Given the description of an element on the screen output the (x, y) to click on. 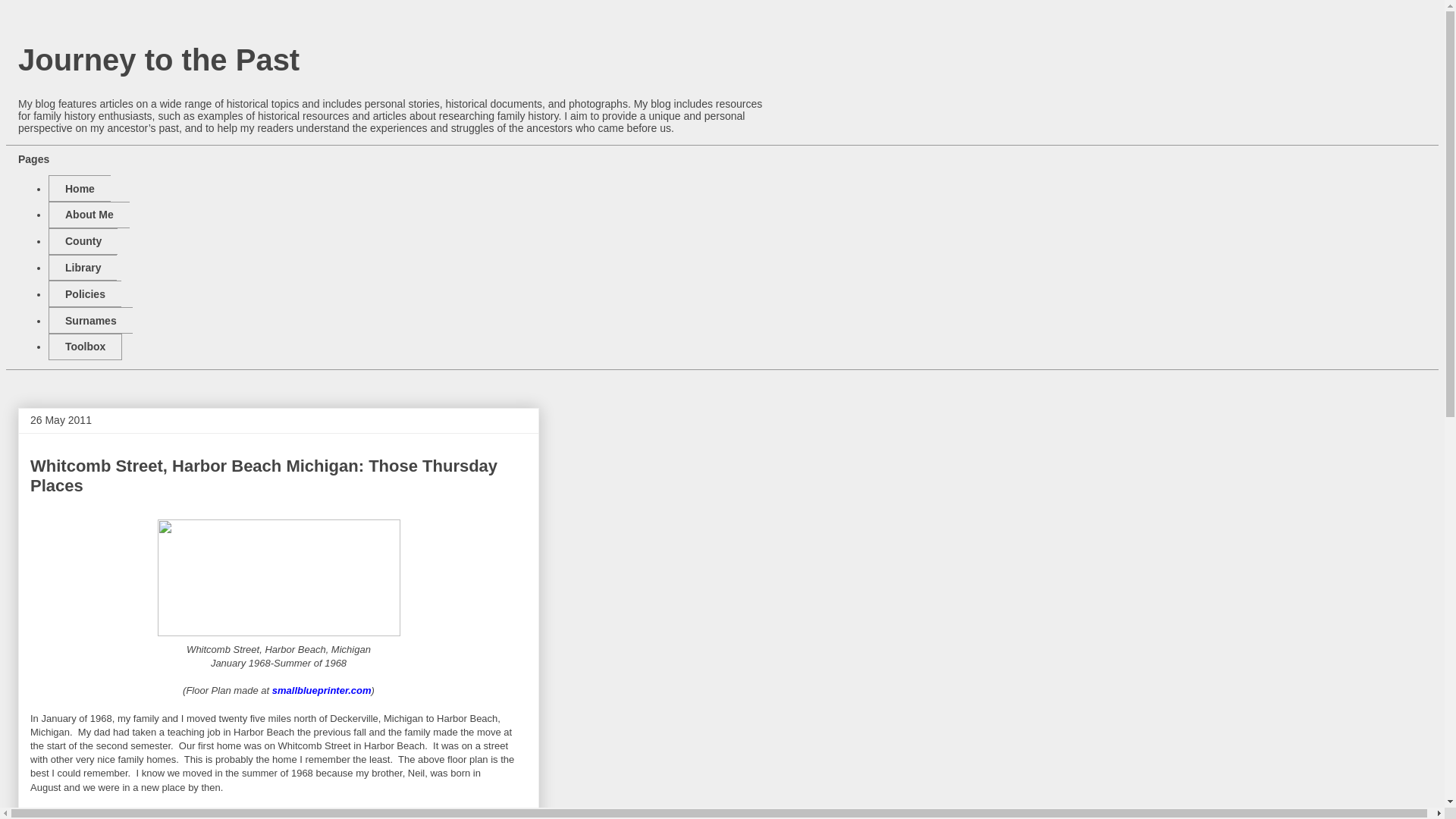
About Me (88, 214)
Surnames (90, 320)
Policies (84, 293)
smallblueprinter.com (321, 690)
County (82, 241)
Library (82, 267)
Journey to the Past (158, 59)
Toolbox (85, 346)
Home (79, 188)
